Given the description of an element on the screen output the (x, y) to click on. 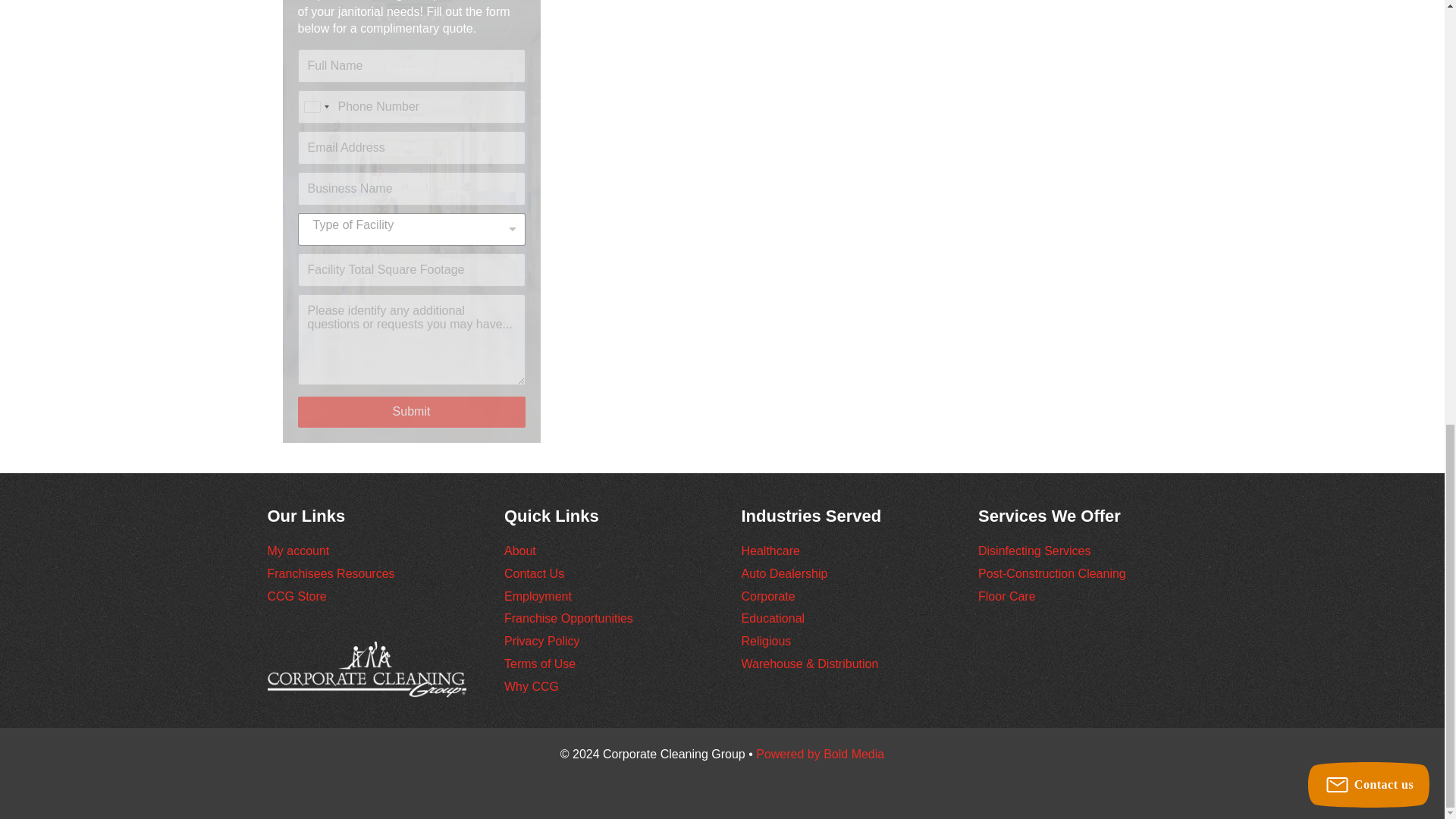
Michigan Website Design Company (819, 753)
